Given the description of an element on the screen output the (x, y) to click on. 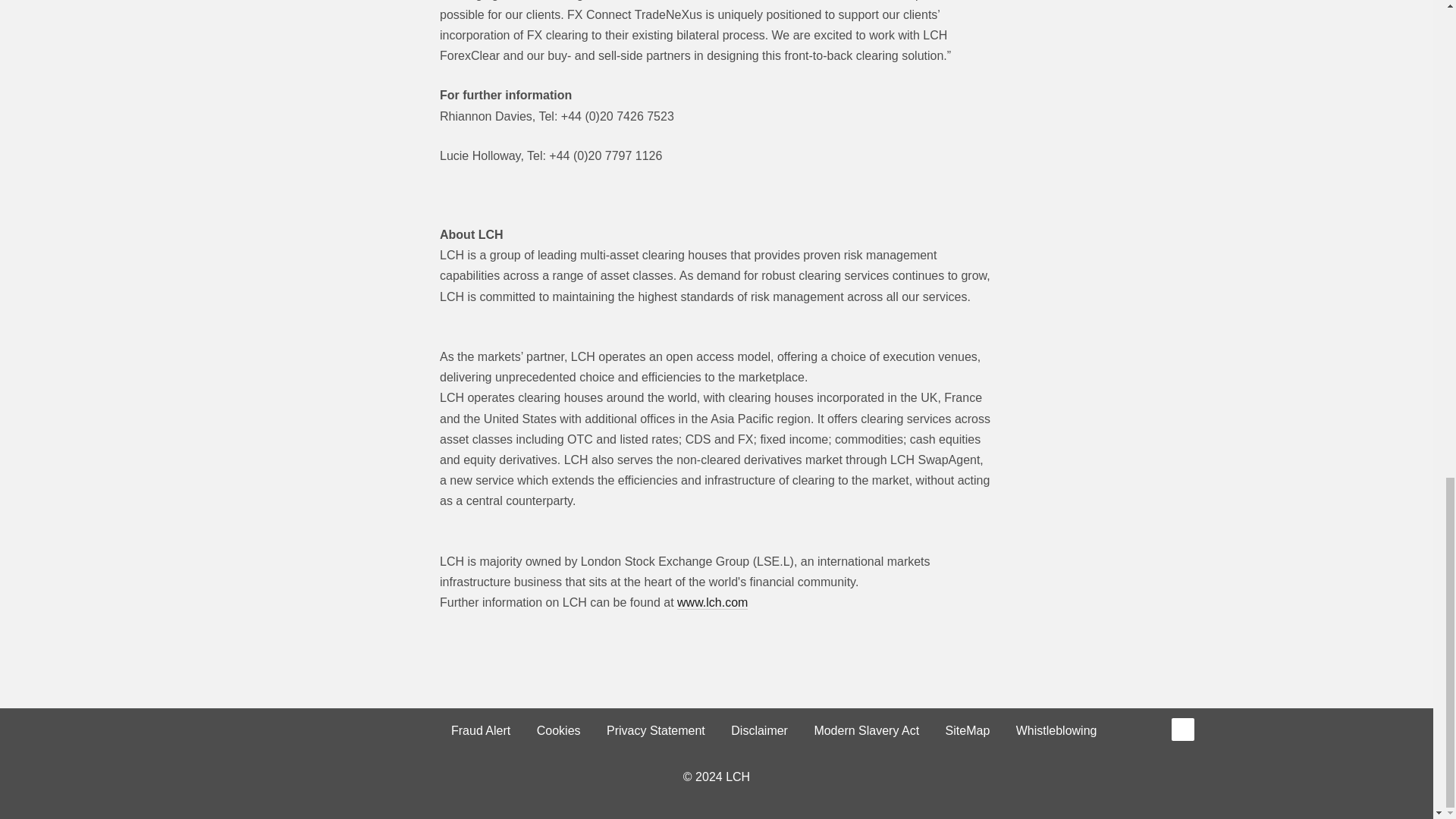
Fraud Alert (480, 730)
Disclaimer (759, 730)
Whistleblowing (1056, 730)
